Given the description of an element on the screen output the (x, y) to click on. 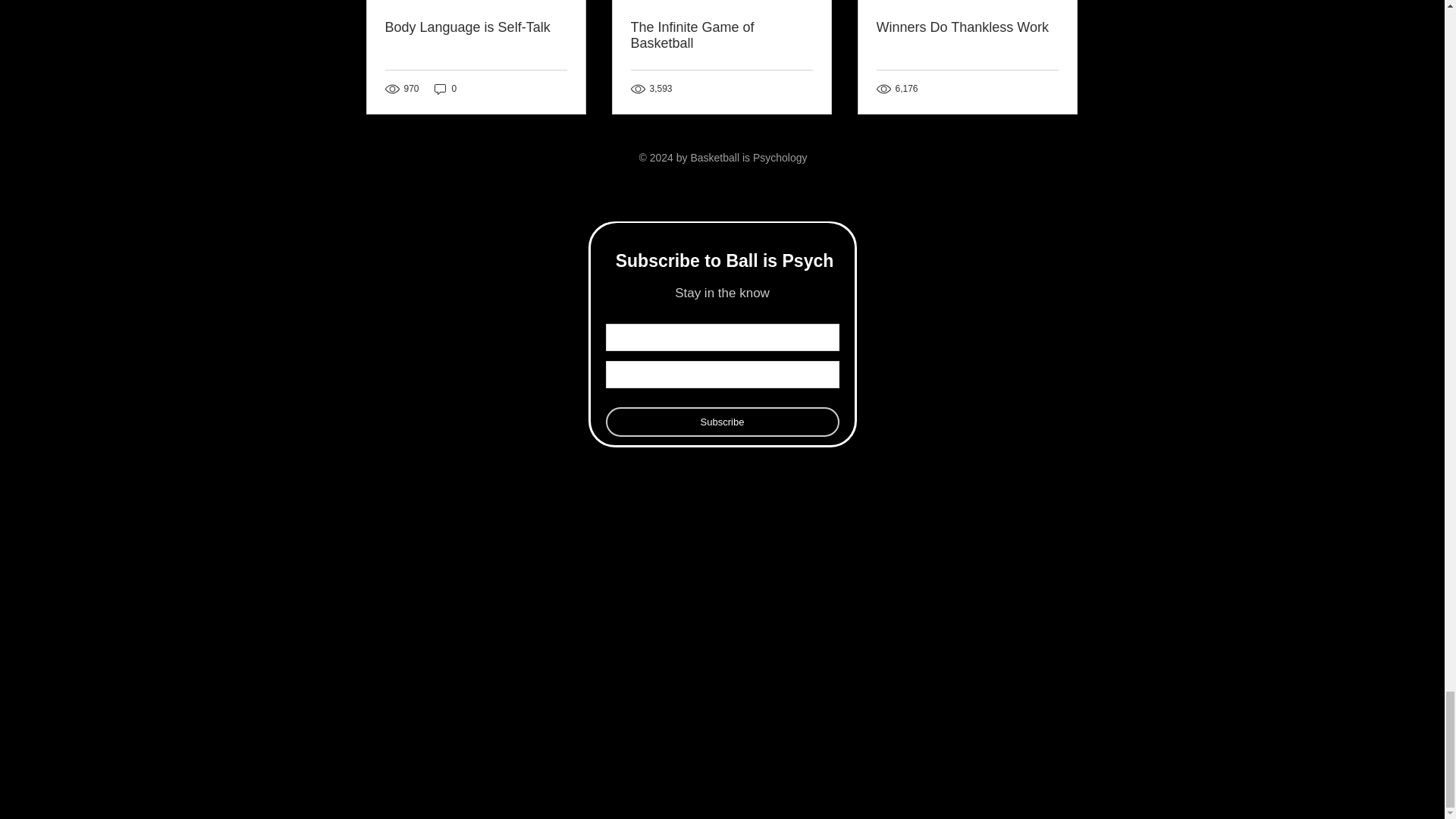
Winners Do Thankless Work (967, 27)
0 (445, 88)
Subscribe (721, 421)
The Infinite Game of Basketball (721, 35)
Body Language is Self-Talk (476, 27)
